Given the description of an element on the screen output the (x, y) to click on. 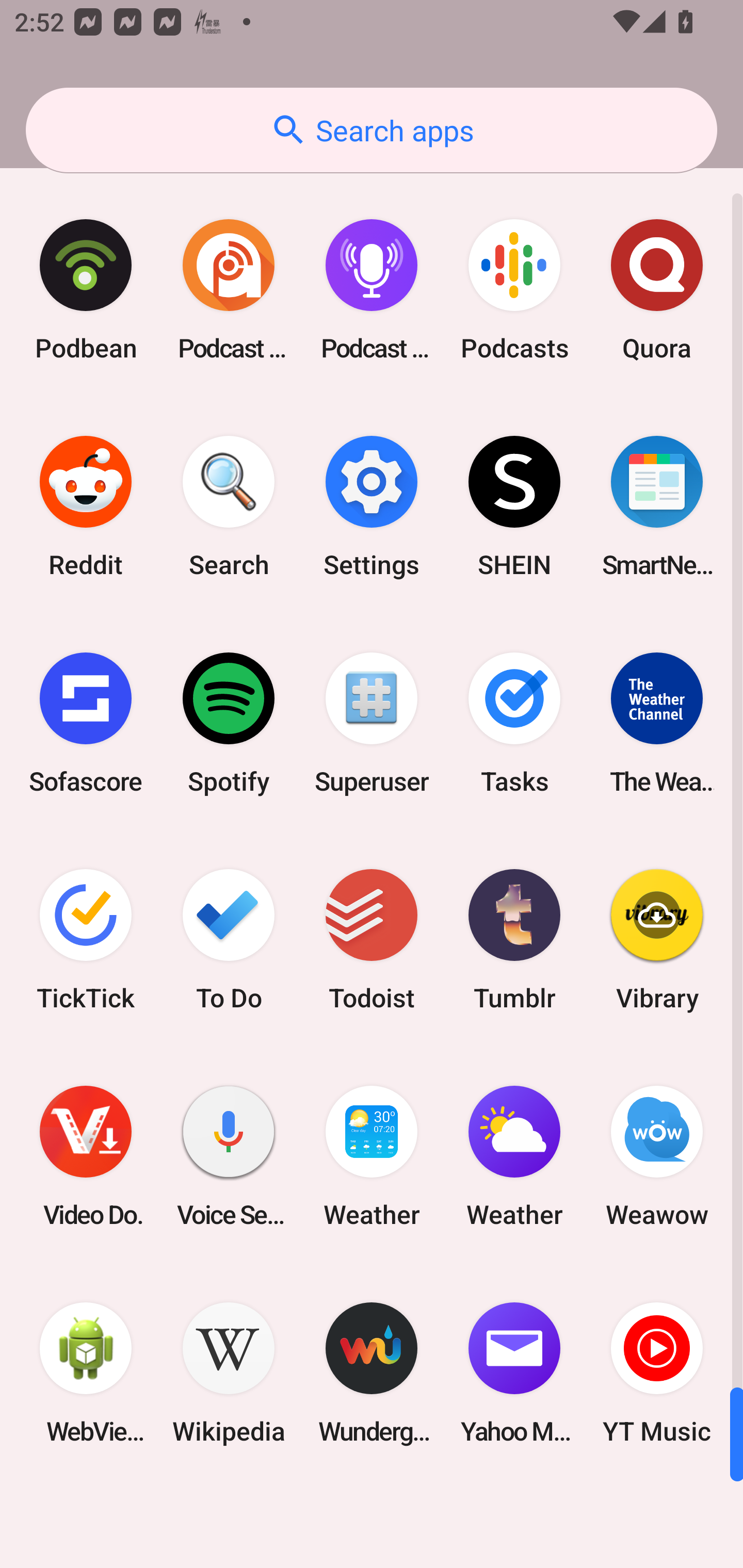
  Search apps (371, 130)
Podbean (85, 289)
Podcast Addict (228, 289)
Podcast Player (371, 289)
Podcasts (514, 289)
Quora (656, 289)
Reddit (85, 506)
Search (228, 506)
Settings (371, 506)
SHEIN (514, 506)
SmartNews (656, 506)
Sofascore (85, 722)
Spotify (228, 722)
Superuser (371, 722)
Tasks (514, 722)
The Weather Channel (656, 722)
TickTick (85, 939)
To Do (228, 939)
Todoist (371, 939)
Tumblr (514, 939)
Vibrary (656, 939)
Video Downloader & Ace Player (85, 1156)
Voice Search (228, 1156)
Weather (371, 1156)
Weather (514, 1156)
Weawow (656, 1156)
WebView Browser Tester (85, 1373)
Wikipedia (228, 1373)
Wunderground (371, 1373)
Yahoo Mail (514, 1373)
YT Music (656, 1373)
